Given the description of an element on the screen output the (x, y) to click on. 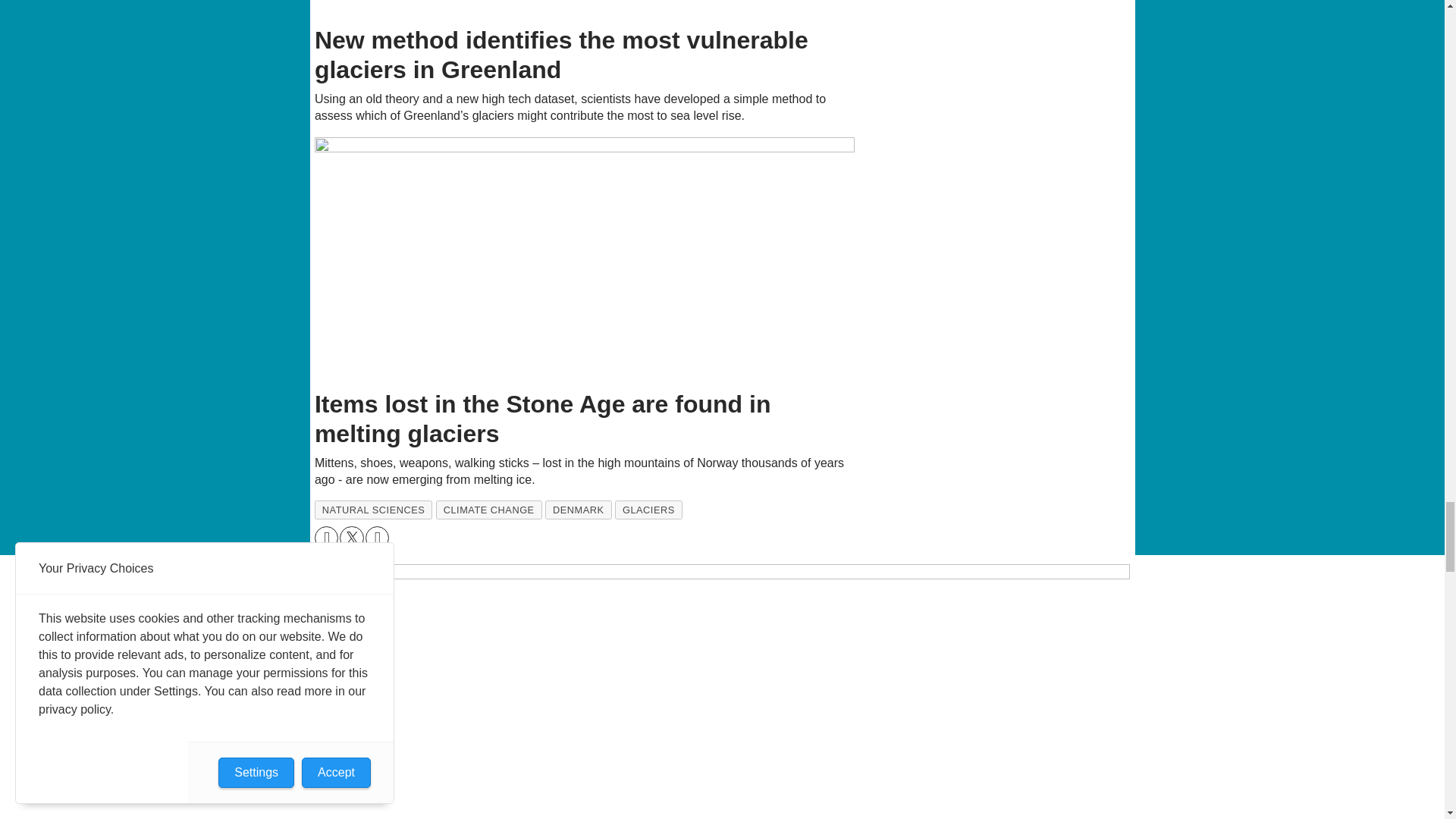
Items lost in the Stone Age are found in melting glaciers (585, 258)
